Given the description of an element on the screen output the (x, y) to click on. 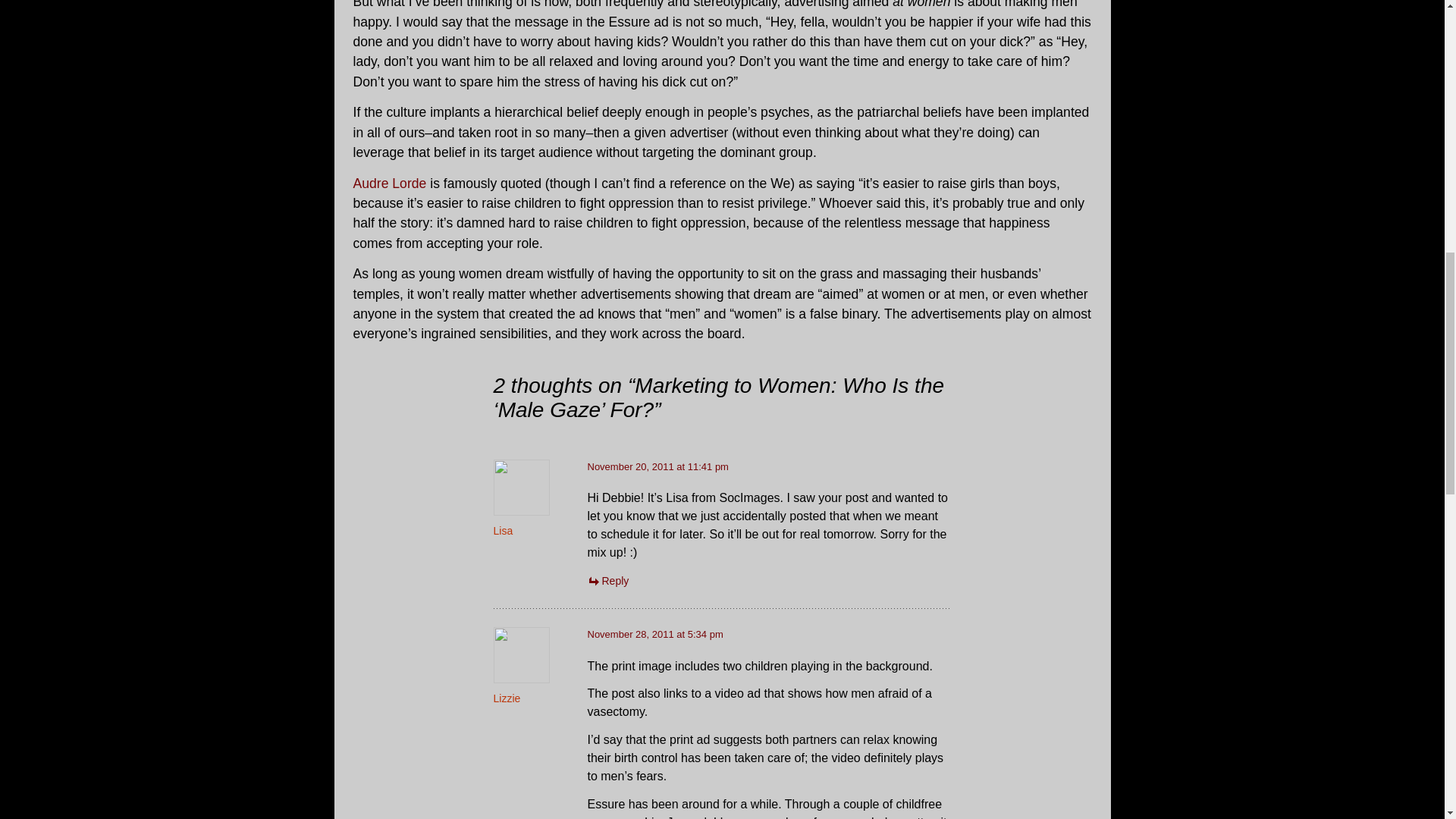
November 28, 2011 at 5:34 pm (654, 633)
Lisa (502, 530)
Reply (607, 580)
Audre Lorde (389, 183)
November 20, 2011 at 11:41 pm (657, 466)
